Given the description of an element on the screen output the (x, y) to click on. 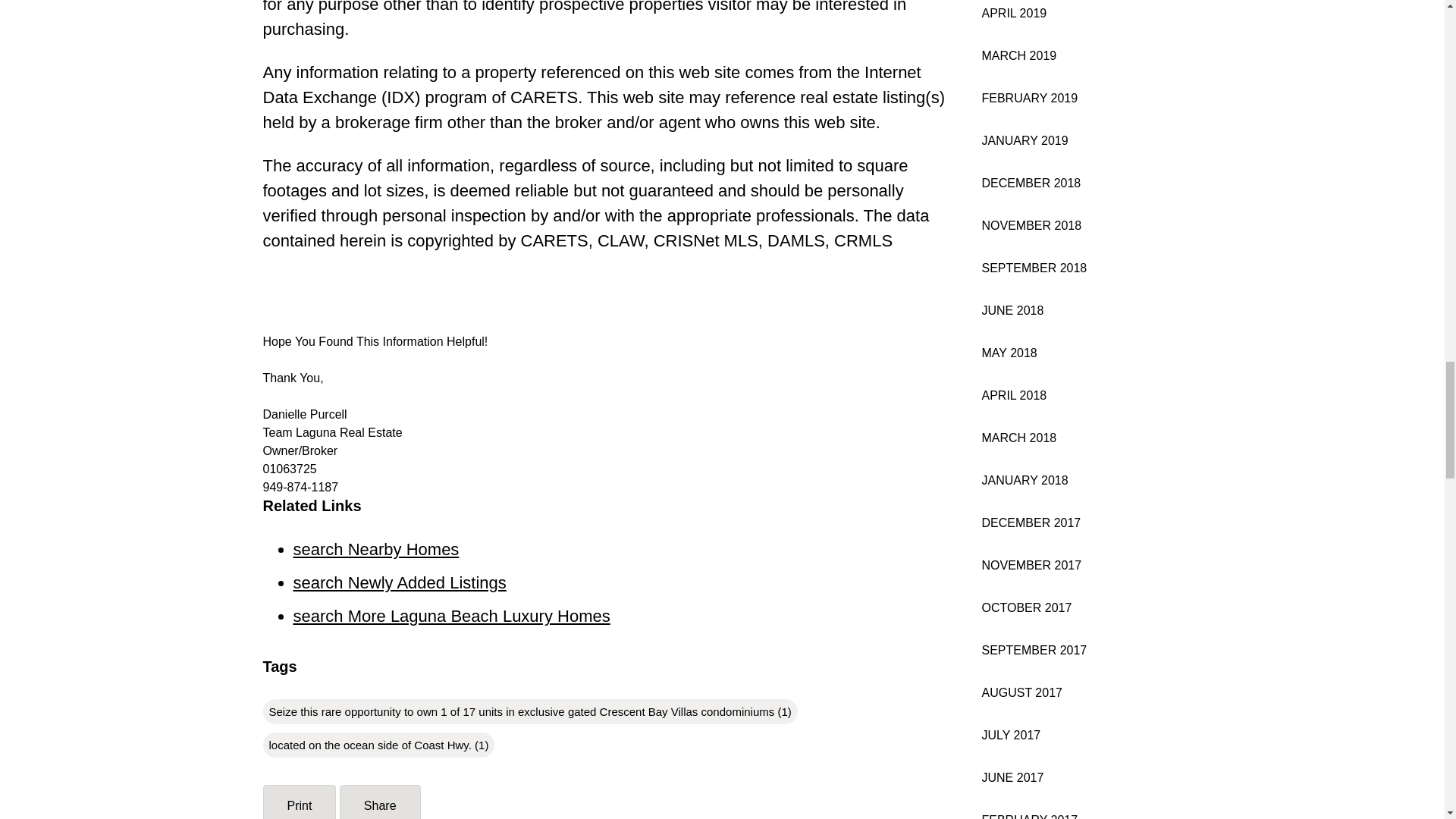
Opens dialog (379, 801)
Opens new window with print ready page (299, 801)
